Given the description of an element on the screen output the (x, y) to click on. 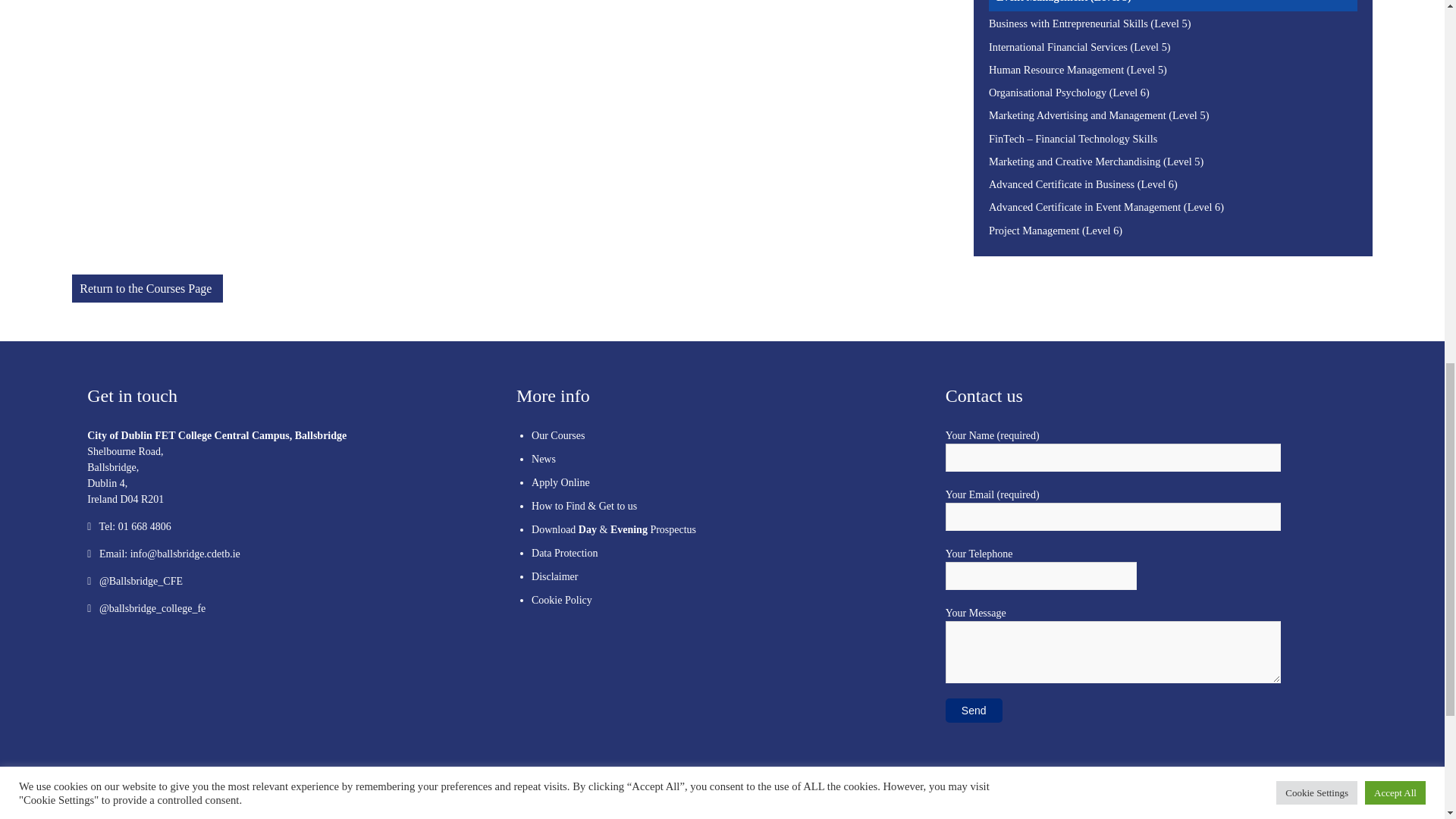
Send (973, 710)
